Given the description of an element on the screen output the (x, y) to click on. 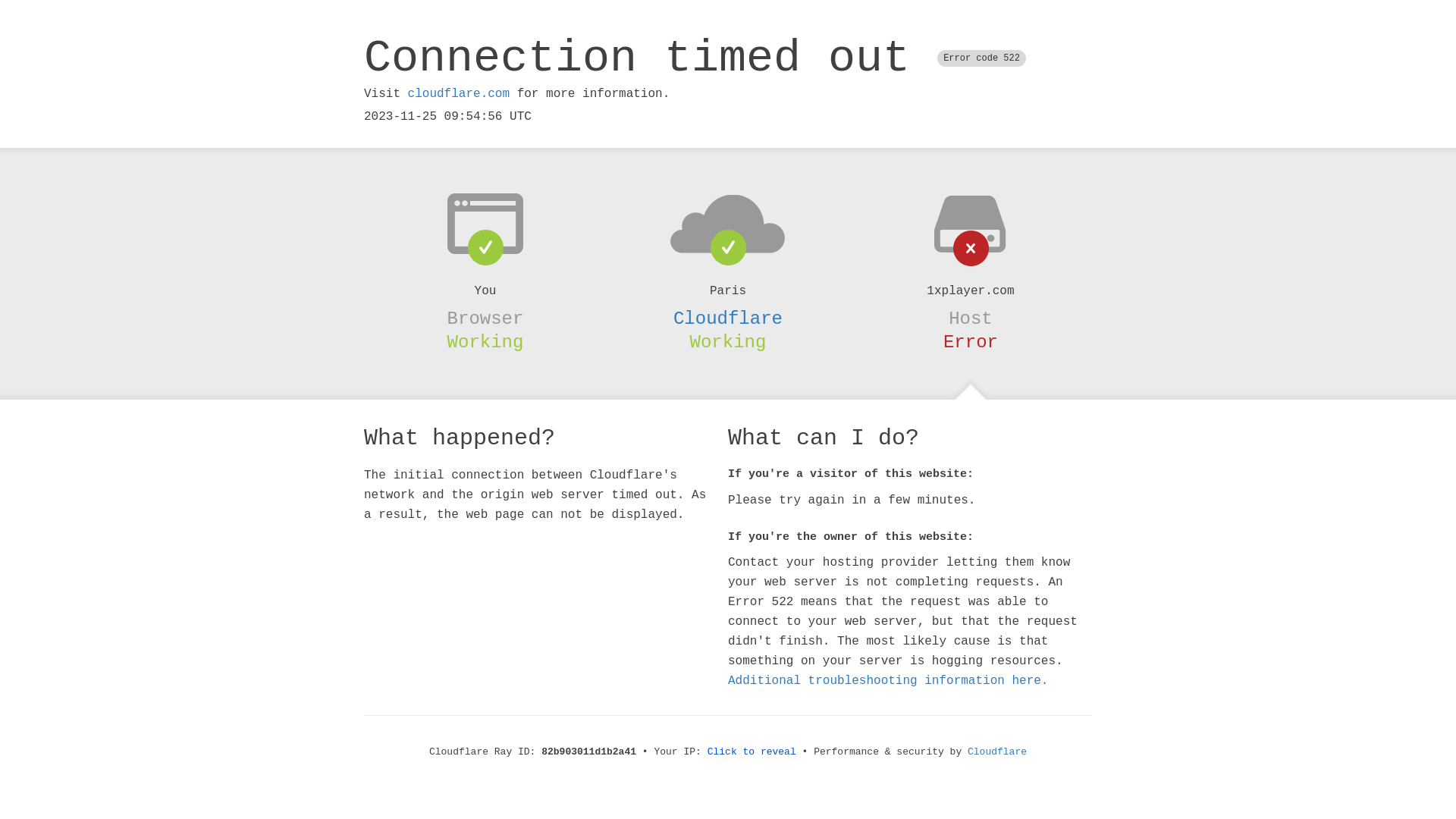
cloudflare.com Element type: text (458, 93)
Additional troubleshooting information here. Element type: text (888, 680)
Cloudflare Element type: text (996, 751)
Cloudflare Element type: text (727, 318)
Click to reveal Element type: text (751, 751)
